Given the description of an element on the screen output the (x, y) to click on. 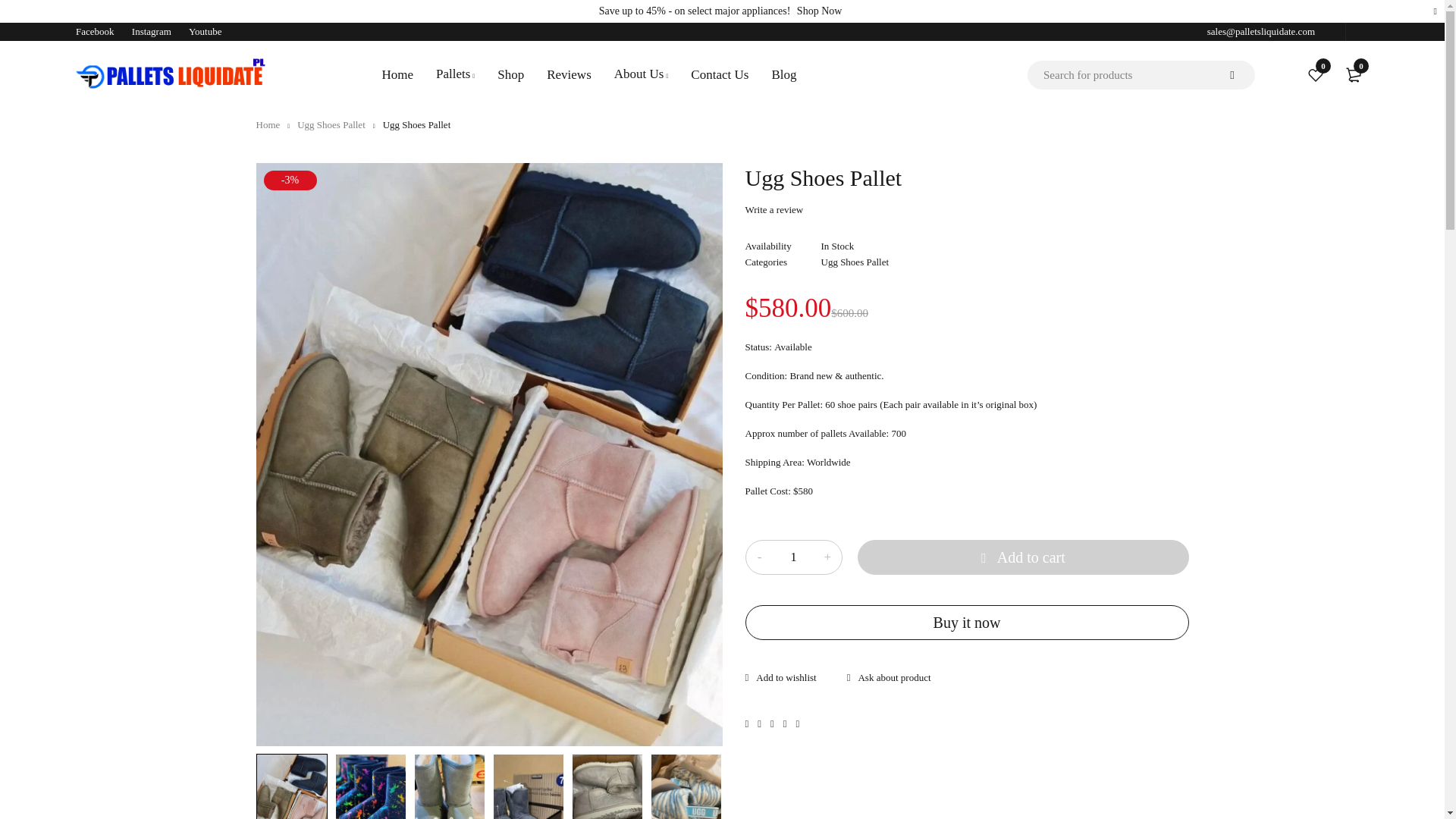
Pallets Liquidation (169, 74)
1 (792, 556)
